Given the description of an element on the screen output the (x, y) to click on. 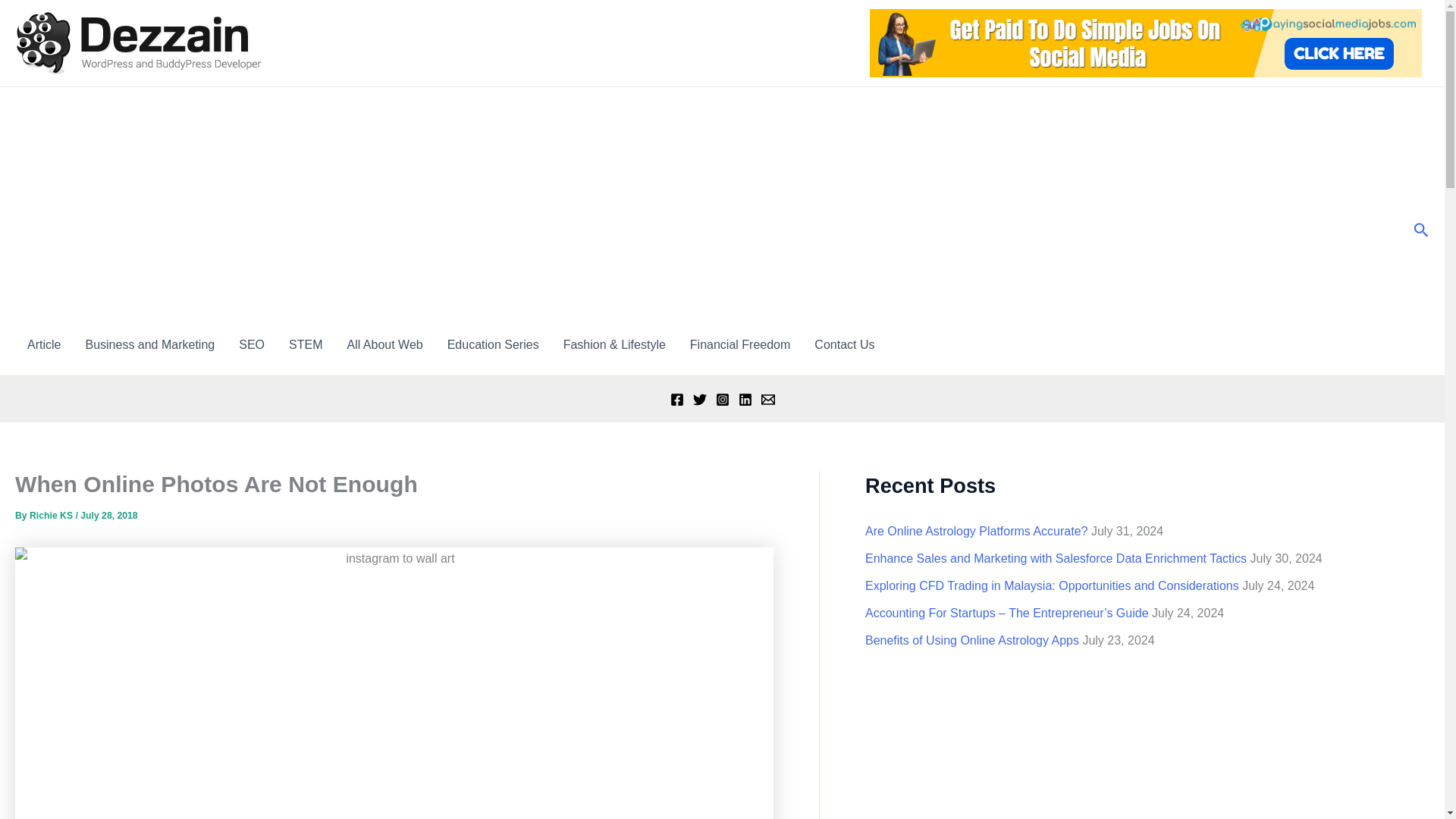
Article (43, 344)
All About Web (383, 344)
Education Series (493, 344)
any inquiries? (844, 344)
Are Online Astrology Platforms Accurate? (975, 530)
View all posts by Richie KS (52, 515)
Business and Marketing (149, 344)
STEM (305, 344)
Financial Freedom (740, 344)
Richie KS (52, 515)
Contact Us (844, 344)
